Given the description of an element on the screen output the (x, y) to click on. 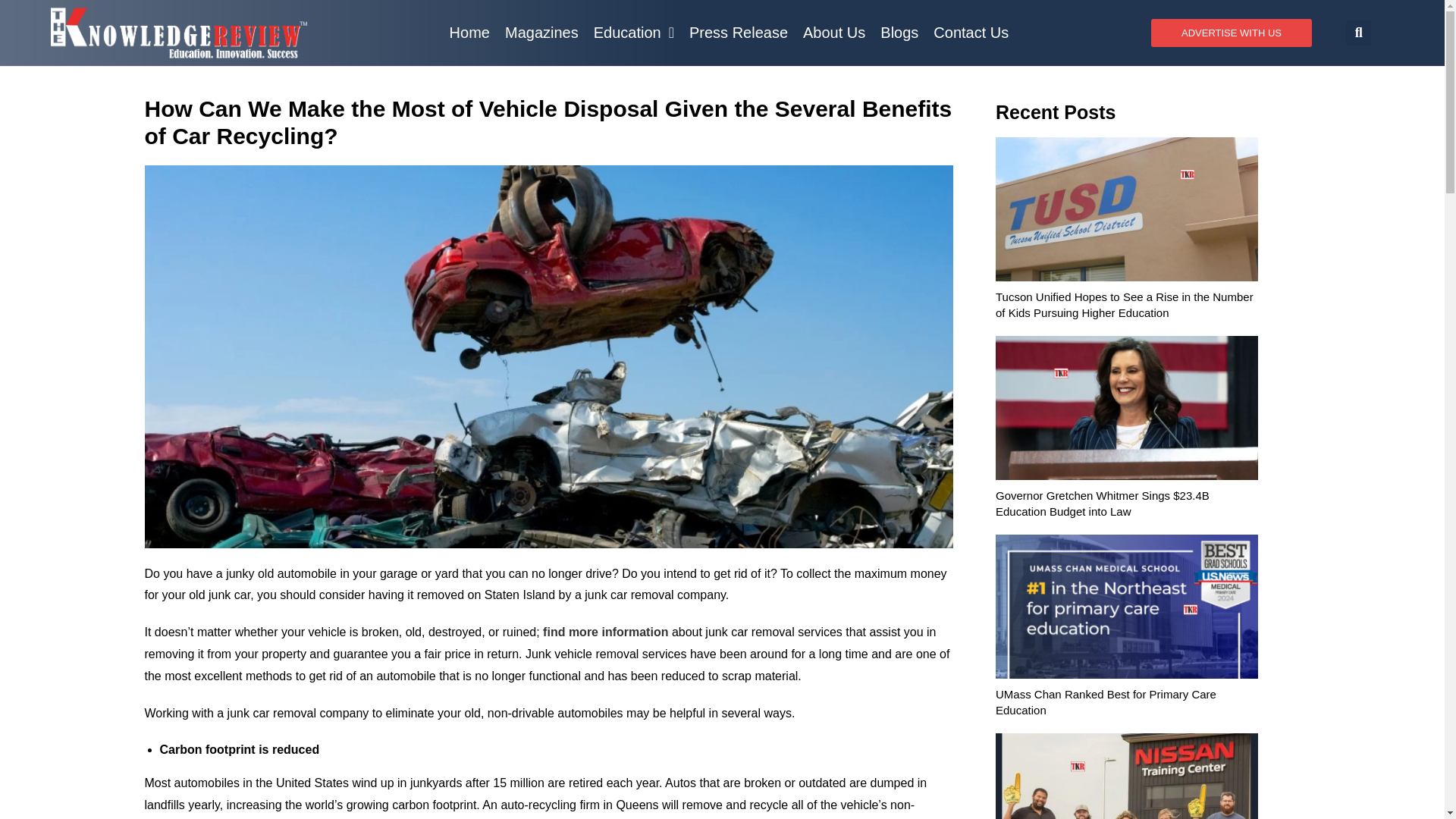
About Us (833, 32)
Education (633, 32)
Blogs (899, 32)
ADVERTISE WITH US (1232, 32)
Contact Us (971, 32)
Home (469, 32)
Magazines (541, 32)
Press Release (737, 32)
